Given the description of an element on the screen output the (x, y) to click on. 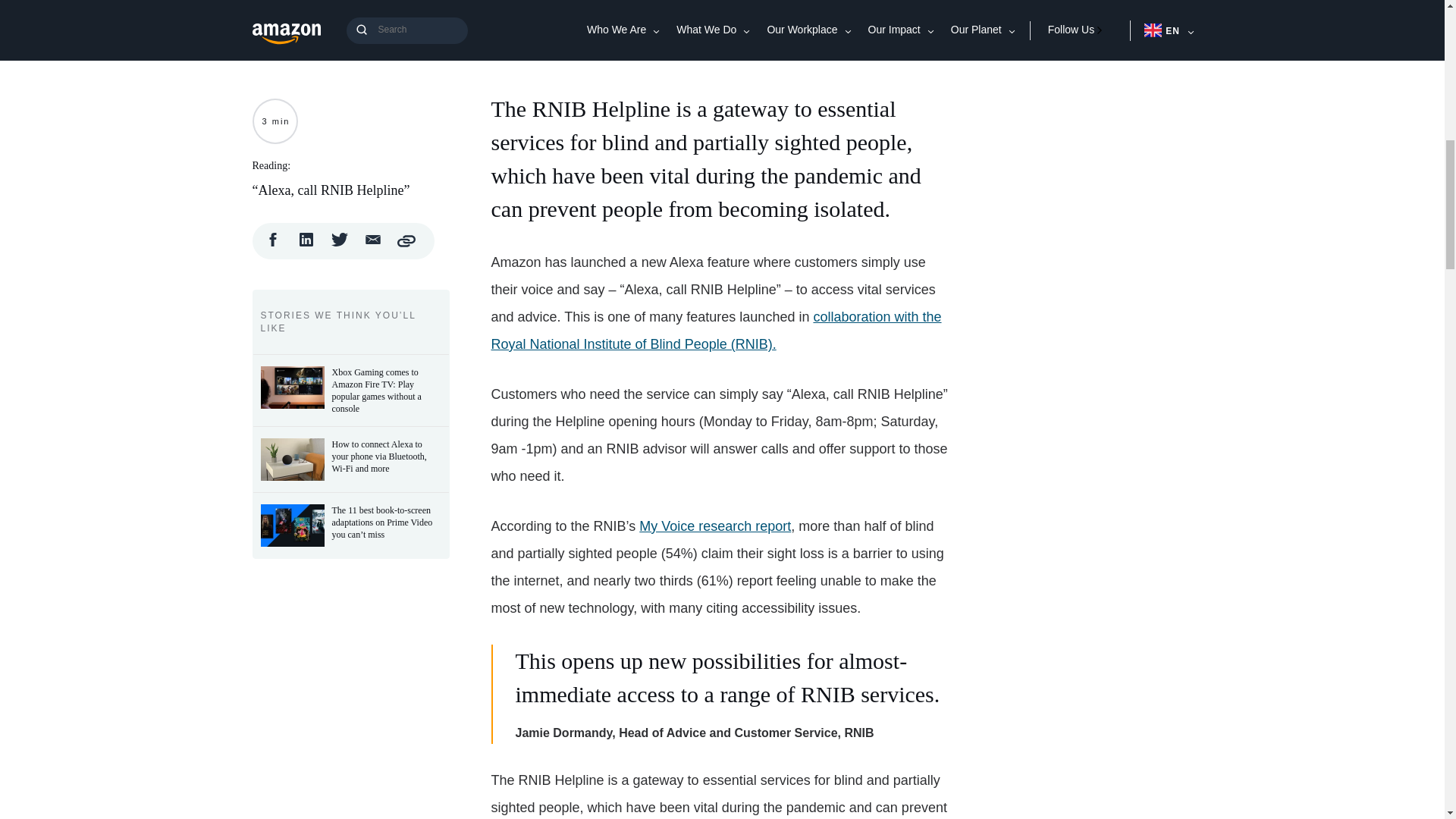
Facebook Share (272, 237)
Twitter Share (339, 237)
LinkedIn Share (306, 237)
Email Share (372, 237)
